Given the description of an element on the screen output the (x, y) to click on. 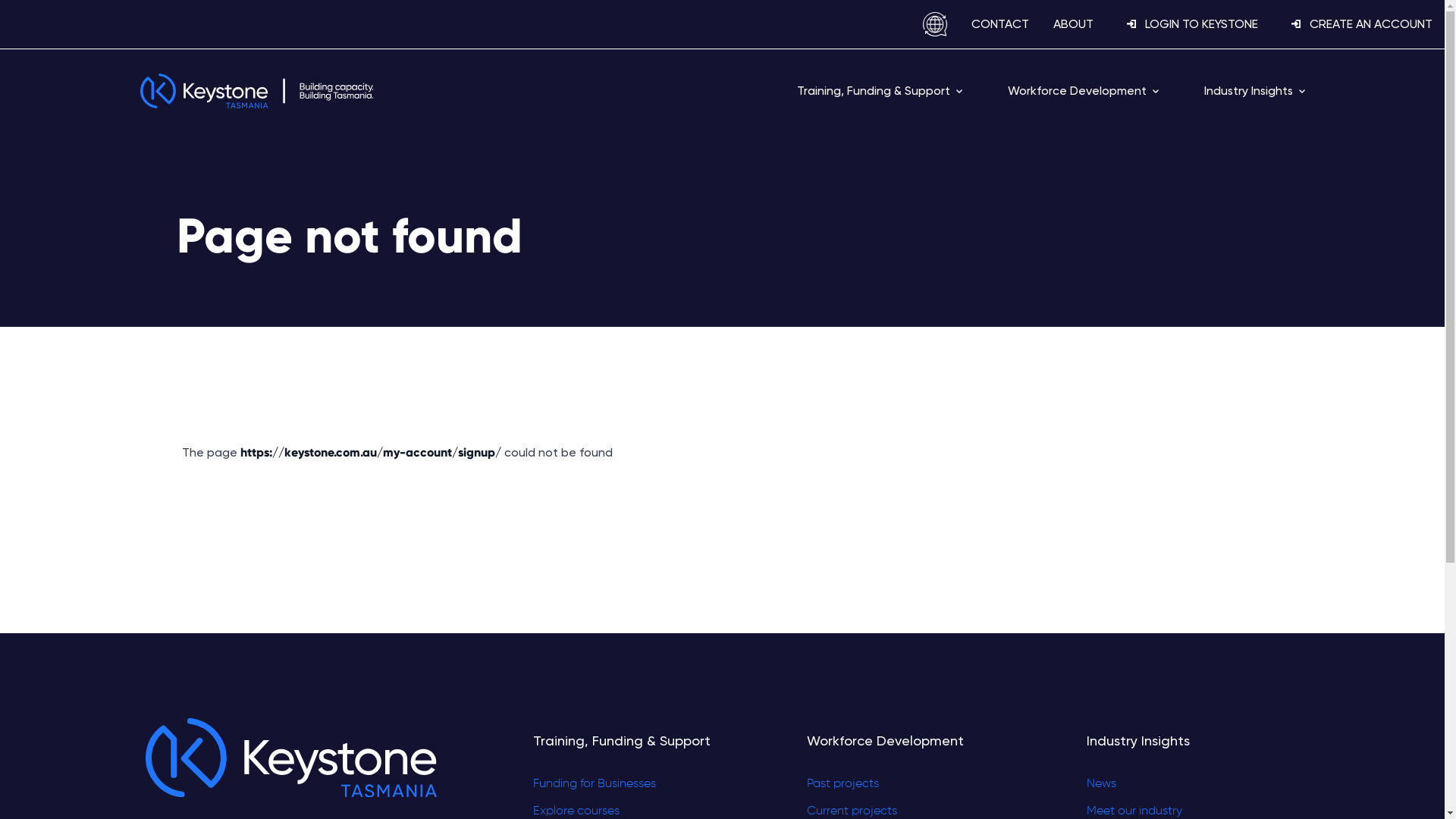
Past projects Element type: text (898, 784)
Funding for Businesses Element type: text (621, 784)
CREATE AN ACCOUNT Element type: text (1357, 24)
ABOUT Element type: text (1073, 24)
News Element type: text (1137, 784)
CONTACT Element type: text (1000, 24)
LOGIN TO KEYSTONE Element type: text (1187, 24)
